Given the description of an element on the screen output the (x, y) to click on. 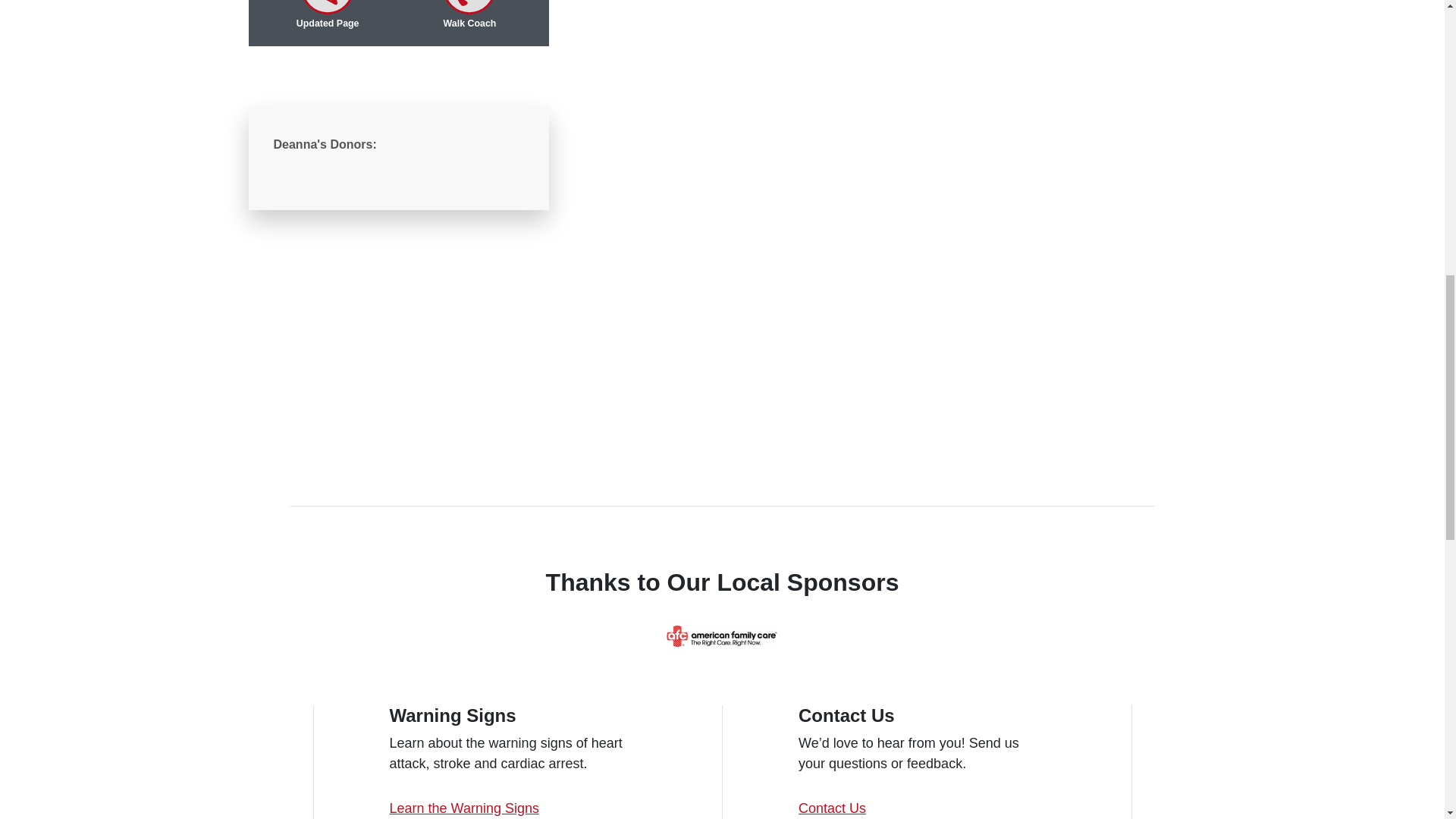
I updated my fundraising page (327, 6)
I'm a HeartWalk Coach (469, 6)
